Given the description of an element on the screen output the (x, y) to click on. 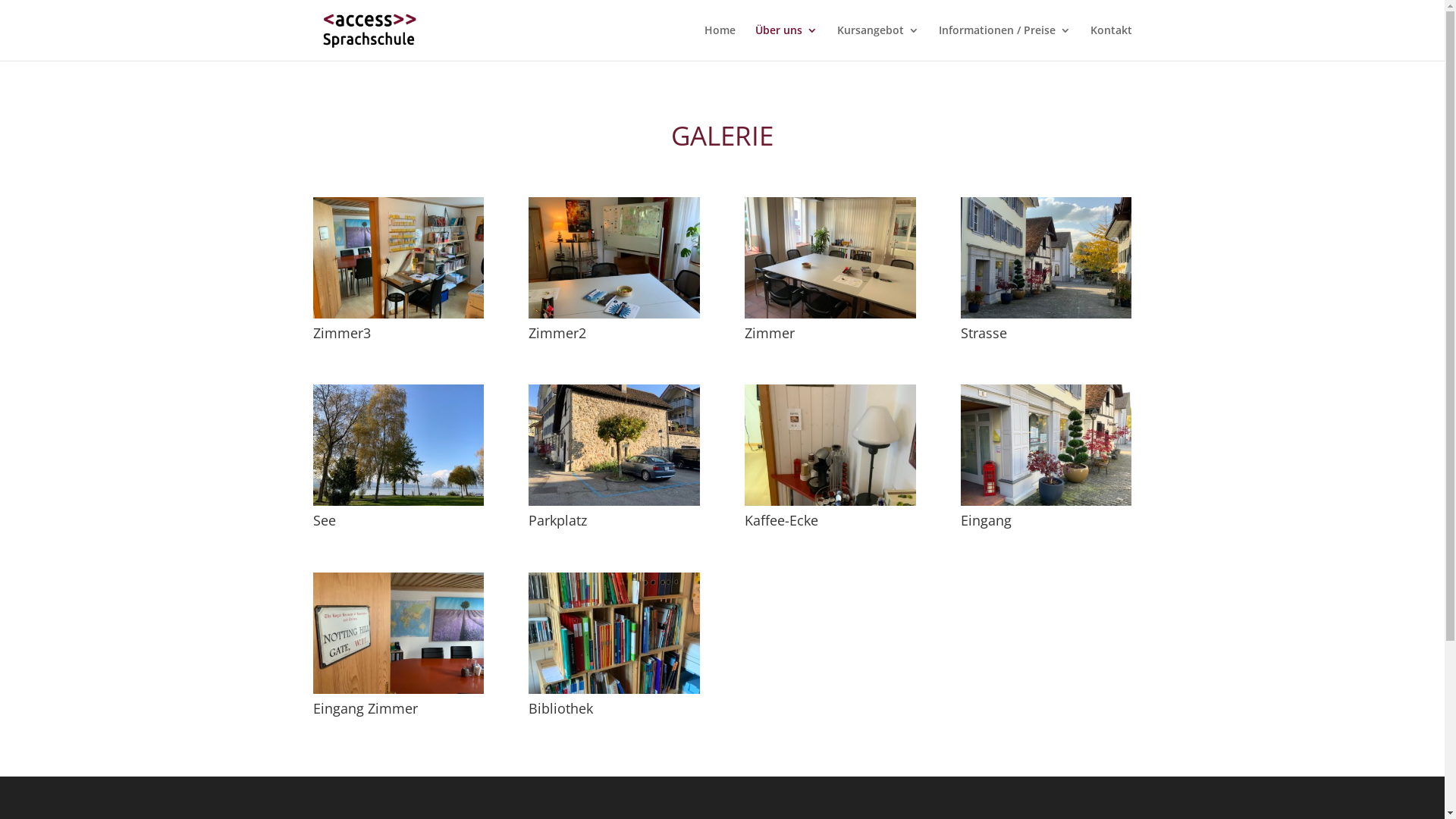
Eingang Element type: hover (1045, 501)
Strasse Element type: hover (1045, 314)
Kontakt Element type: text (1111, 42)
Home Element type: text (718, 42)
Informationen / Preise Element type: text (1004, 42)
Kaffee-Ecke Element type: hover (829, 501)
See Element type: hover (397, 501)
Parkplatz Element type: hover (613, 501)
Bibliothek Element type: hover (613, 689)
Zimmer2 Element type: hover (613, 314)
Zimmer Element type: hover (829, 314)
Eingang Zimmer Element type: hover (397, 689)
Zimmer3 Element type: hover (397, 314)
Kursangebot Element type: text (878, 42)
